Given the description of an element on the screen output the (x, y) to click on. 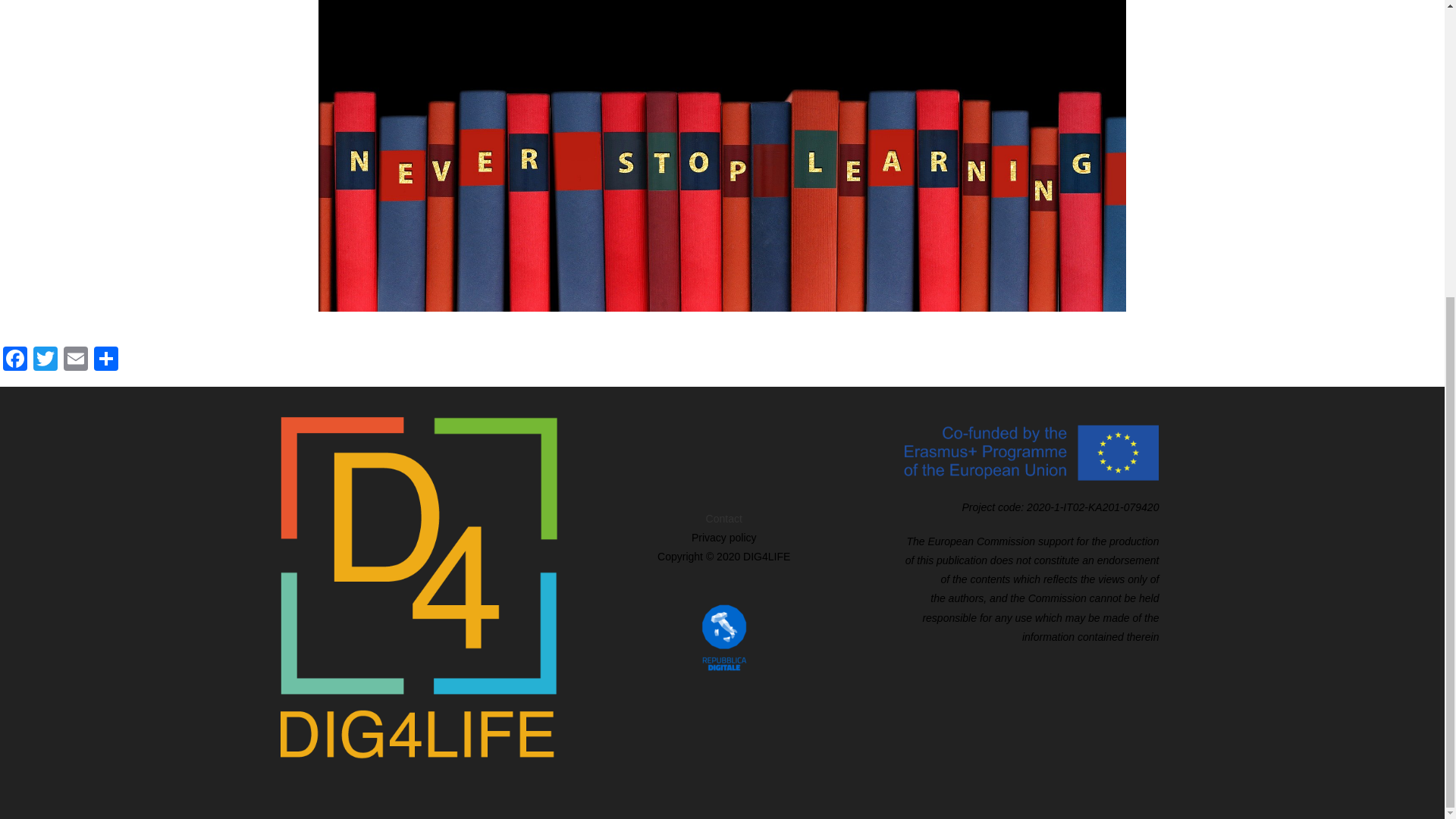
Email (75, 360)
Twitter (45, 360)
Email (75, 360)
Twitter (45, 360)
Facebook (15, 360)
Facebook (15, 360)
Contact (724, 518)
